Given the description of an element on the screen output the (x, y) to click on. 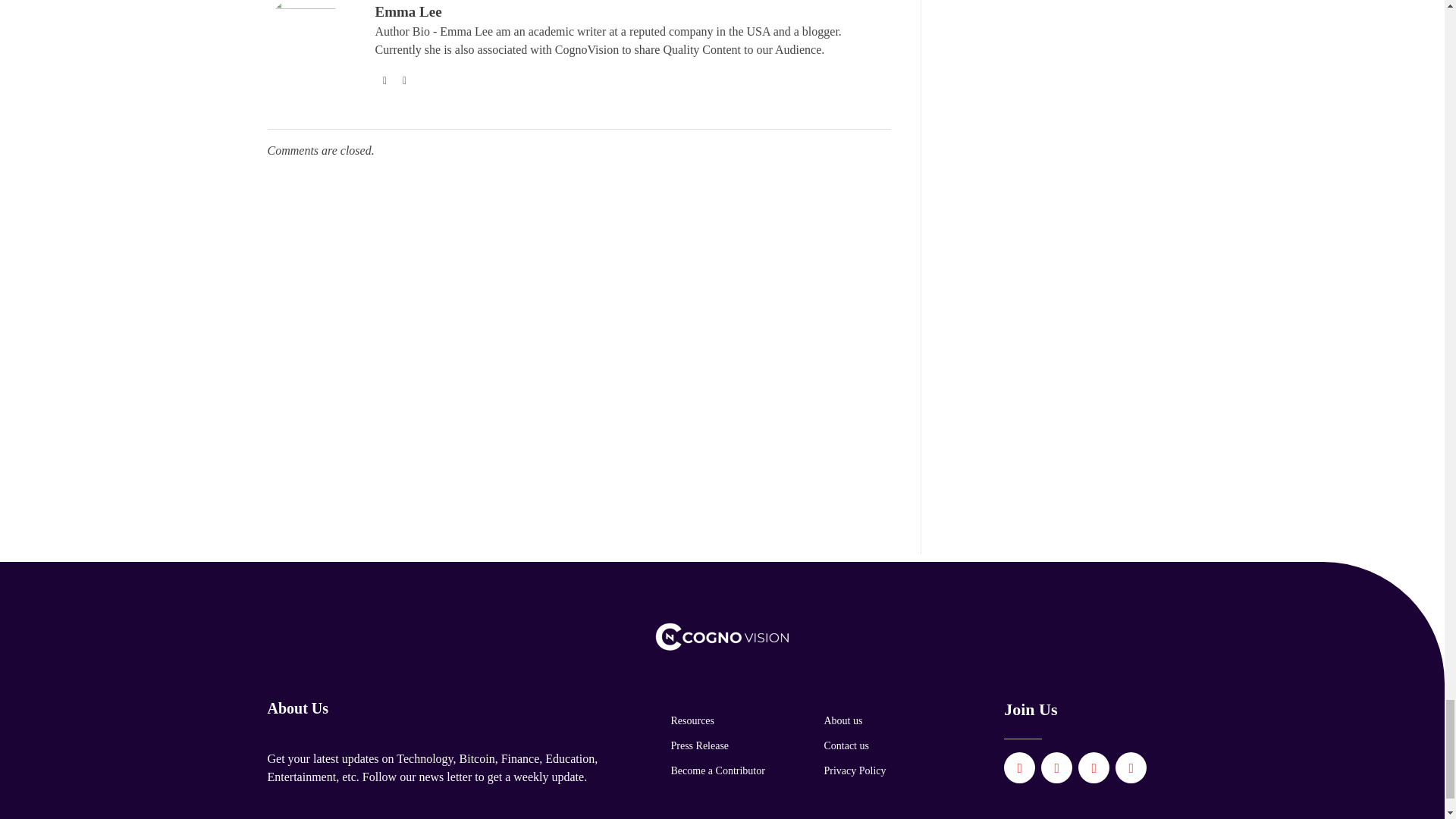
View all posts by Emma Lee (407, 11)
Emma Lee (407, 11)
